Given the description of an element on the screen output the (x, y) to click on. 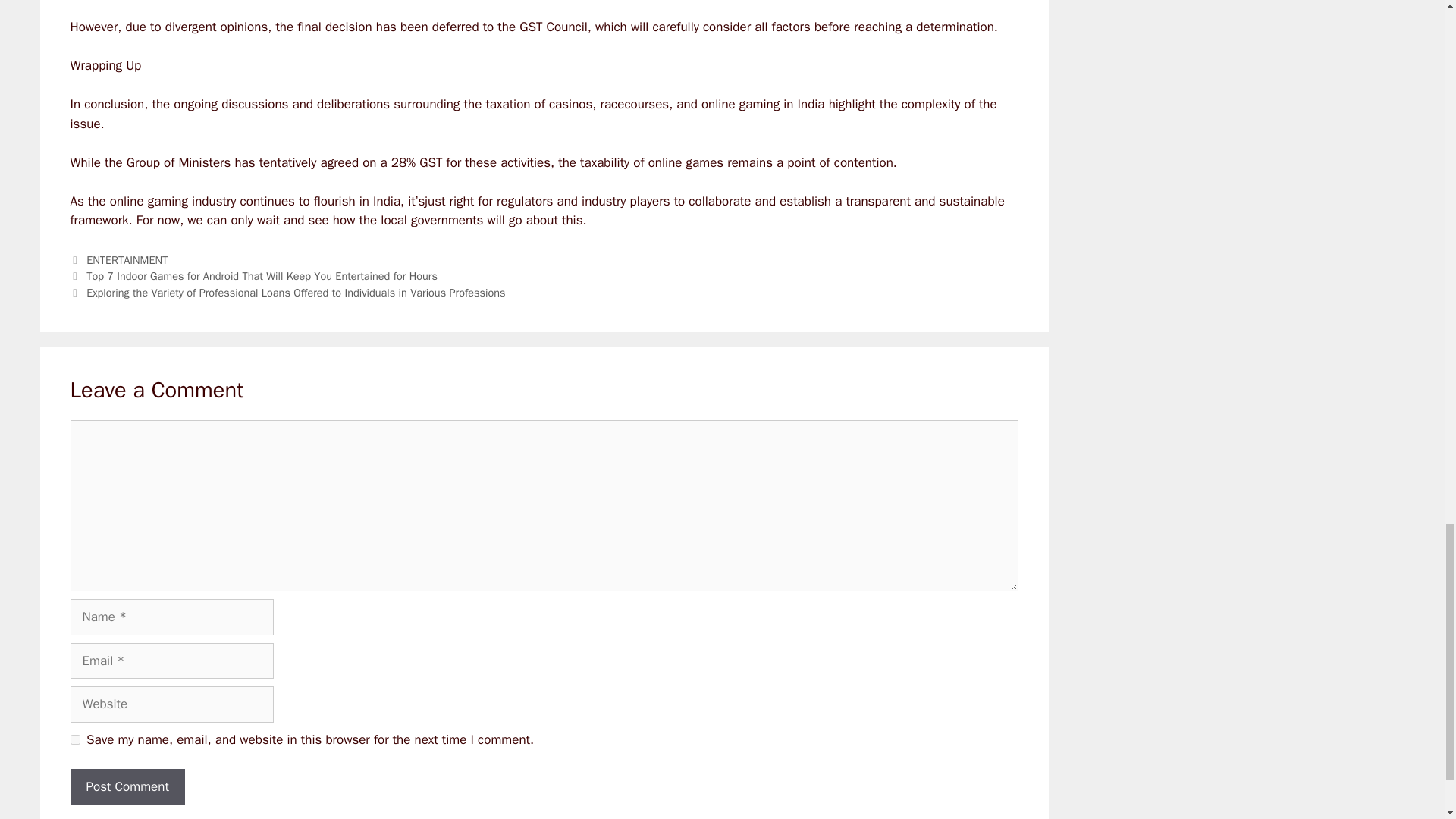
ENTERTAINMENT (126, 259)
yes (74, 739)
Post Comment (126, 787)
Post Comment (126, 787)
